Given the description of an element on the screen output the (x, y) to click on. 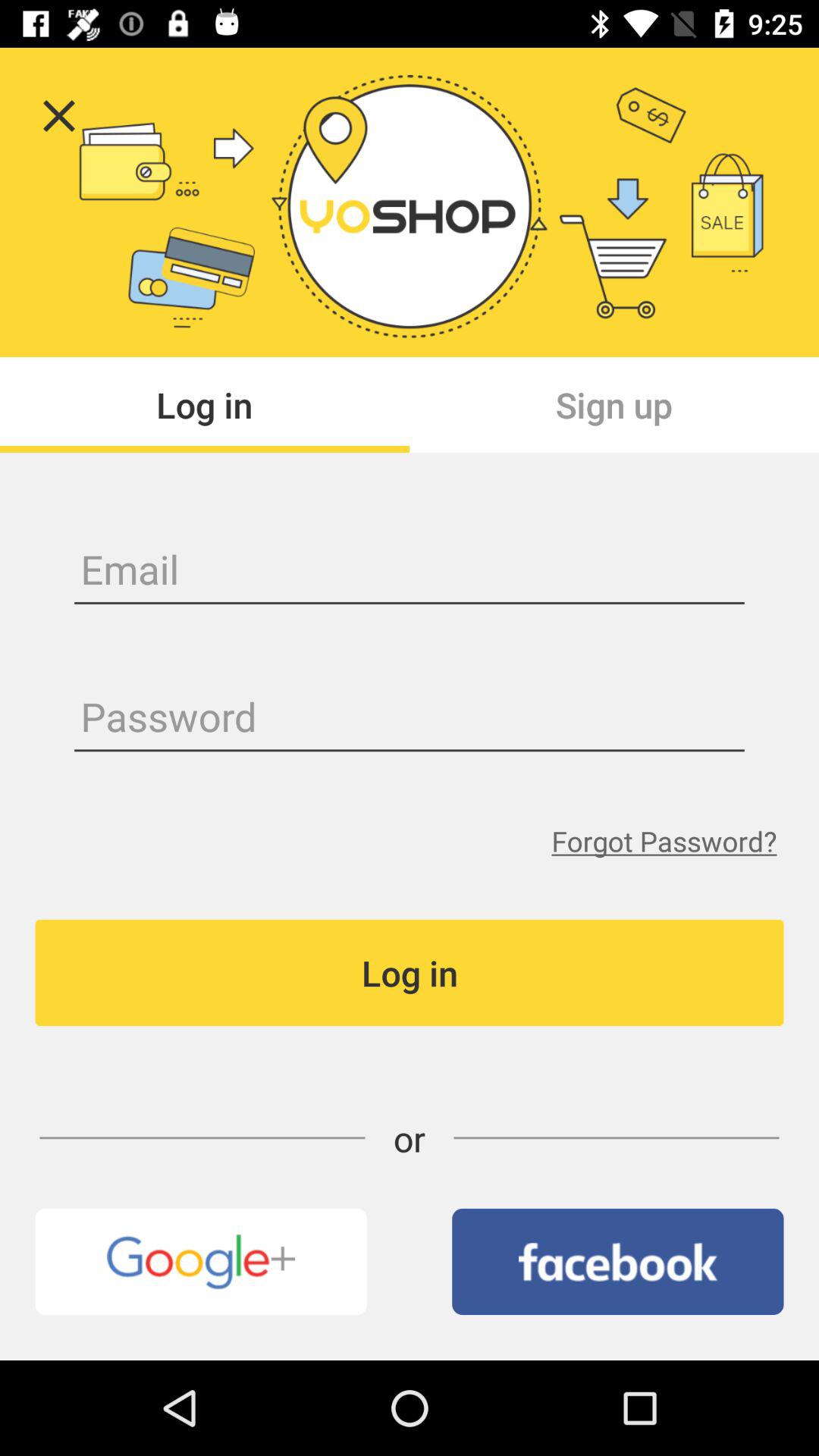
turn on forgot password? (663, 840)
